Given the description of an element on the screen output the (x, y) to click on. 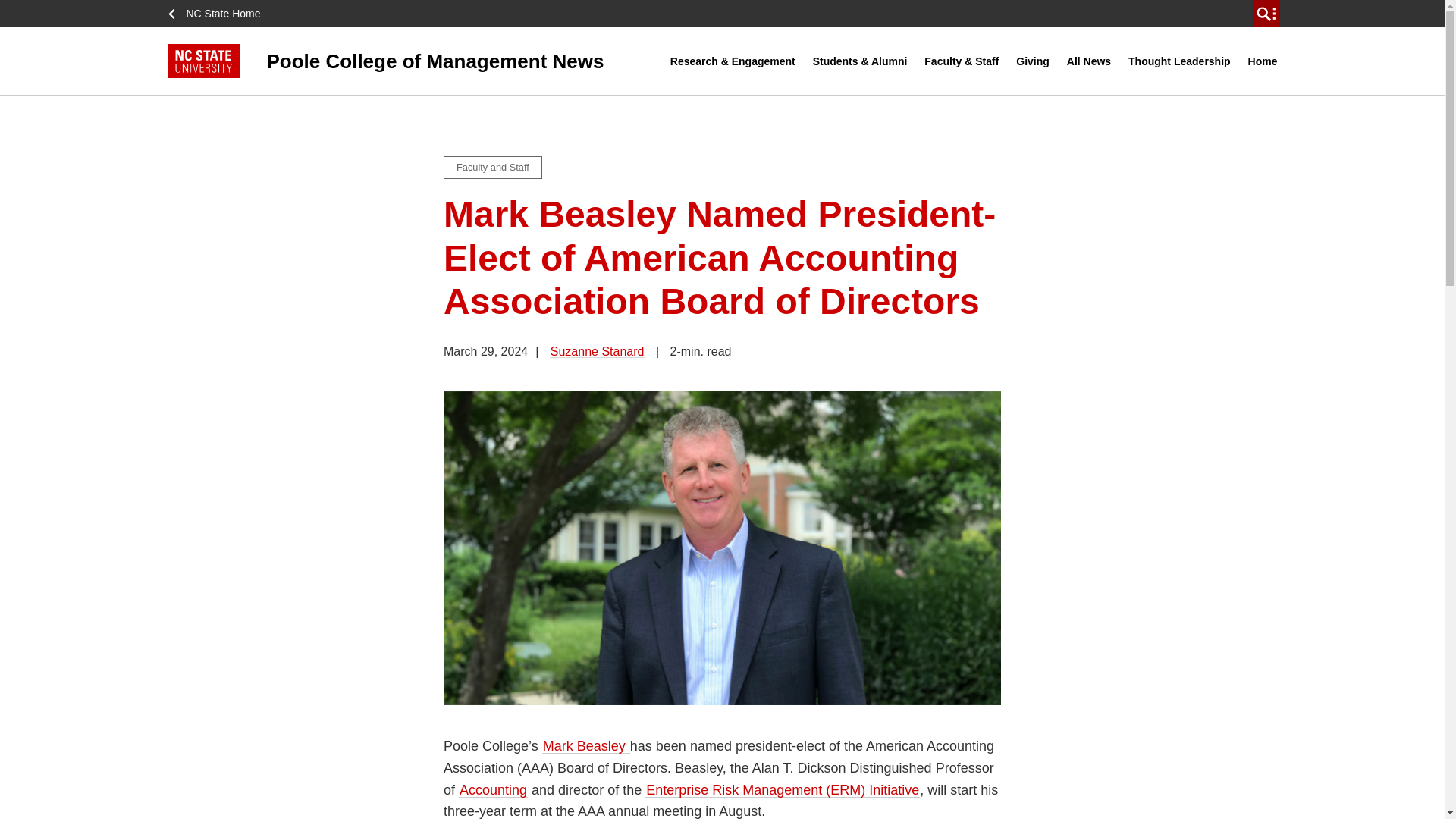
NC State Home (217, 13)
Thought Leadership (1179, 61)
Posts by Suzanne Stanard (597, 350)
All News (1088, 61)
Home (1262, 61)
Poole College of Management News (418, 61)
Giving (1033, 61)
